Given the description of an element on the screen output the (x, y) to click on. 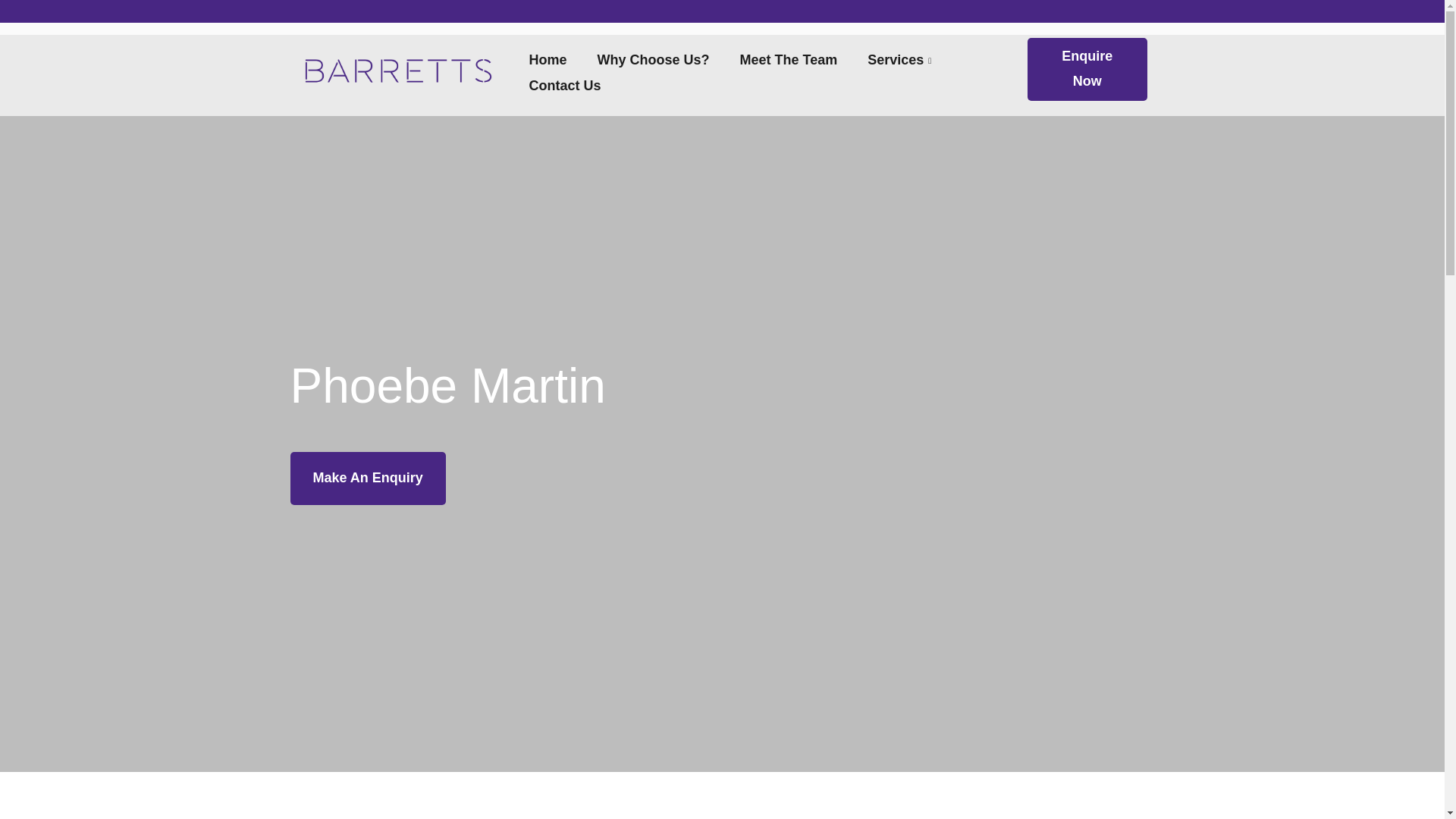
Enquire Now (1087, 68)
Meet The Team (789, 59)
Contact Us (564, 85)
Why Choose Us? (653, 59)
Services (900, 59)
Make An Enquiry (367, 478)
Home (547, 59)
